Given the description of an element on the screen output the (x, y) to click on. 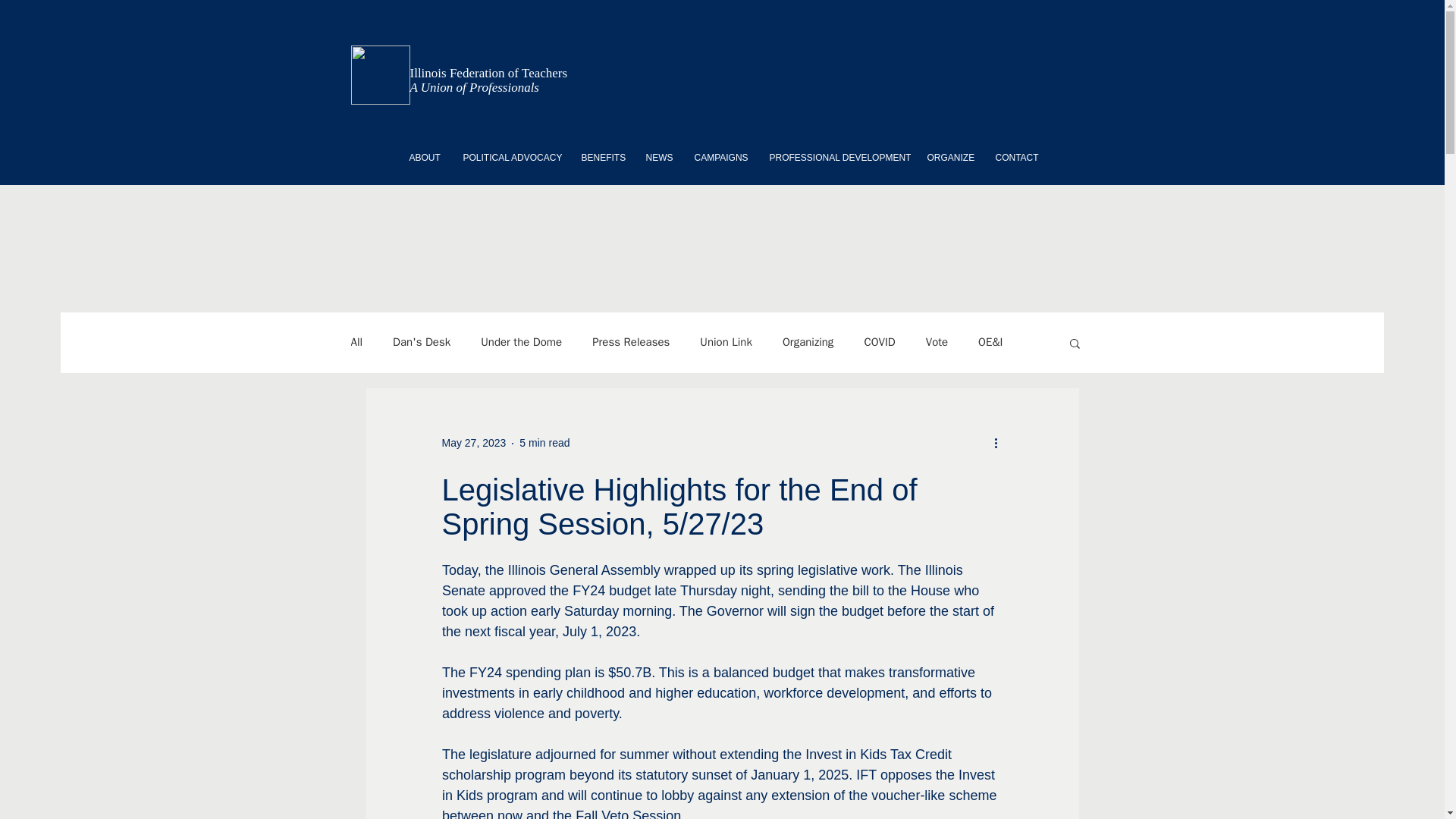
5 min read (544, 442)
CAMPAIGNS (719, 158)
ORGANIZE (949, 158)
Union Link (726, 341)
POLITICAL ADVOCACY (510, 158)
CONTACT (1016, 158)
Vote (936, 341)
ABOUT (424, 158)
COVID (879, 341)
Dan's Desk (421, 341)
